Given the description of an element on the screen output the (x, y) to click on. 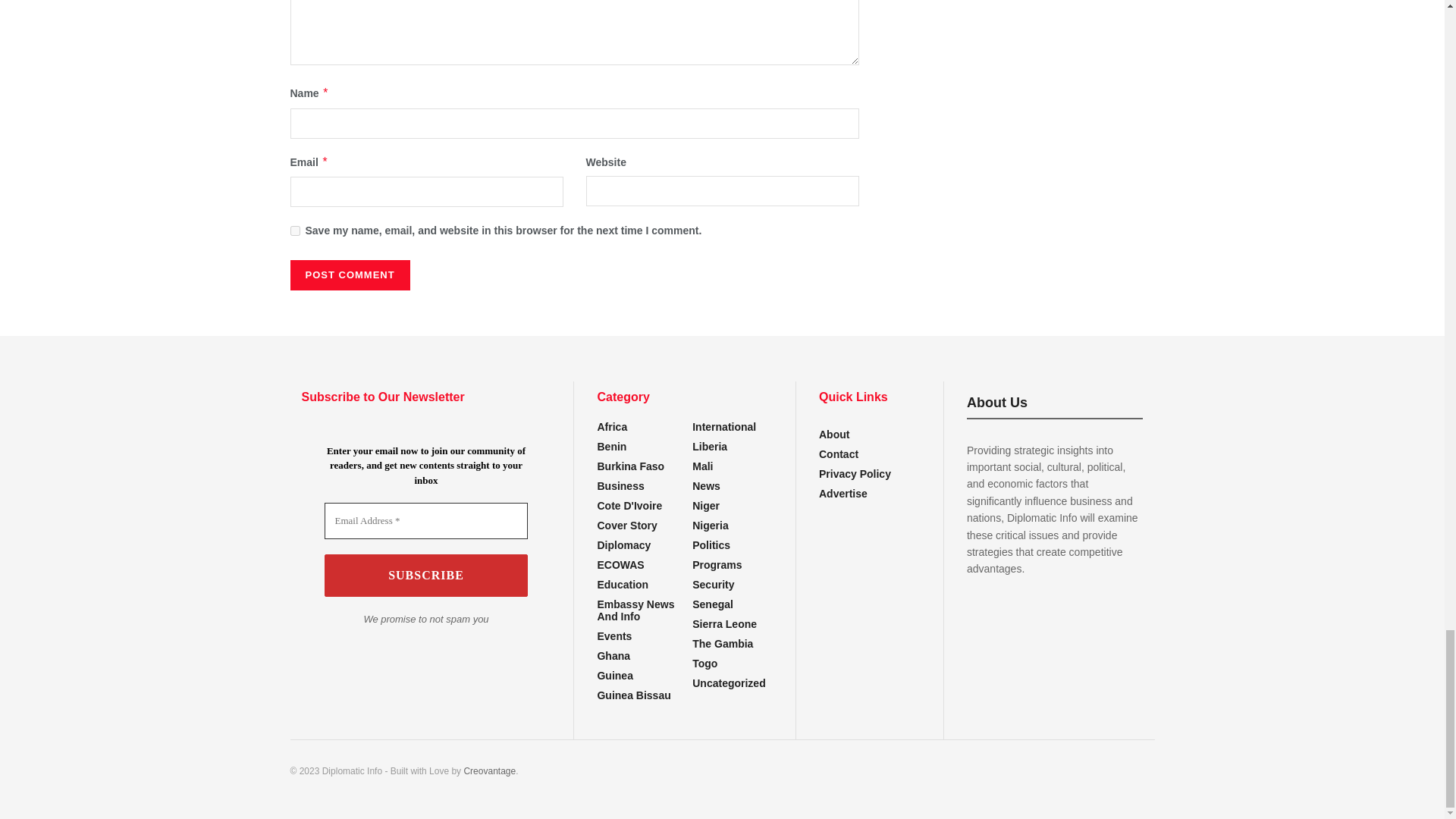
Email Address (426, 520)
yes (294, 230)
Post Comment (349, 275)
Subscribe (426, 575)
